Given the description of an element on the screen output the (x, y) to click on. 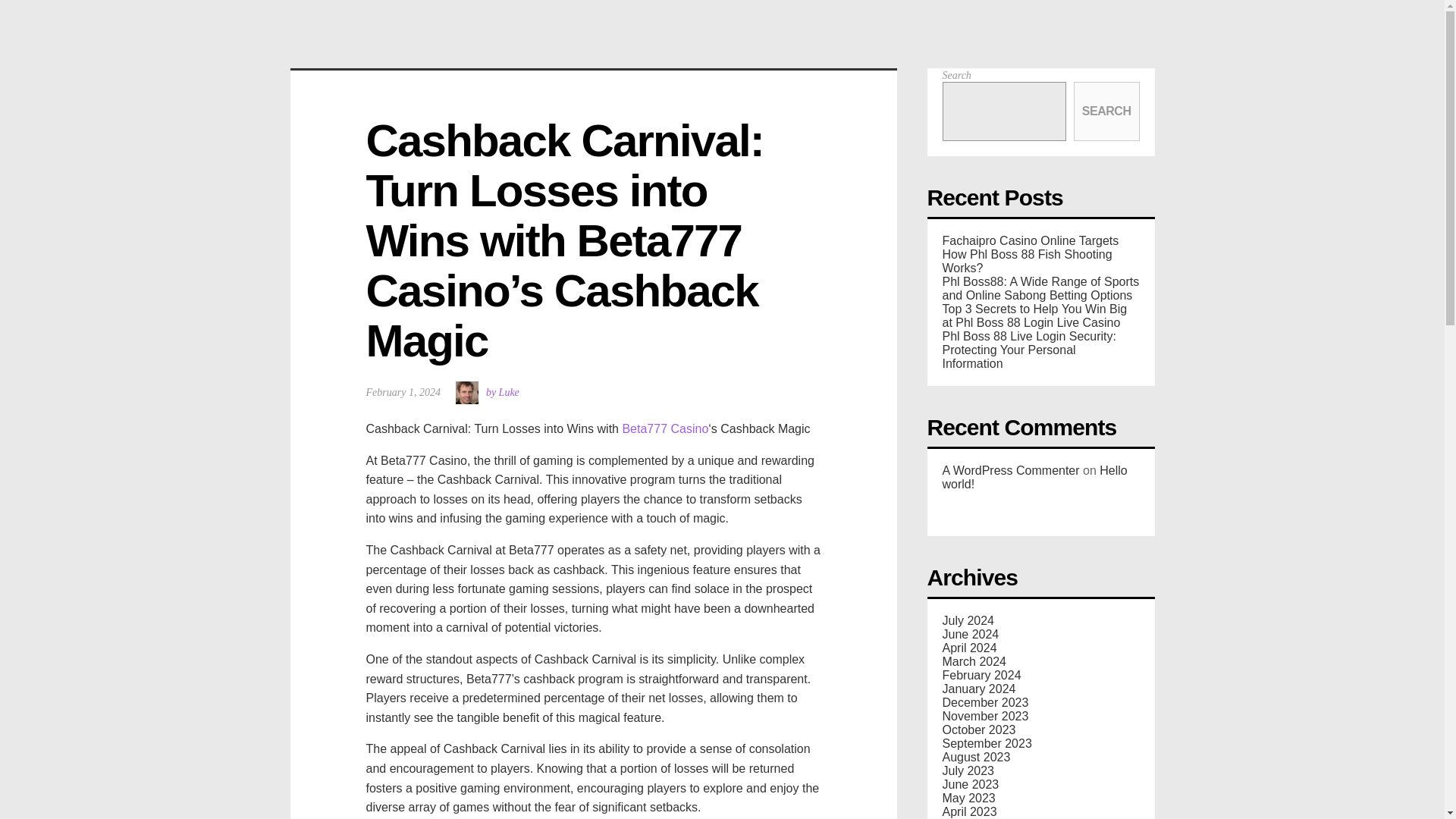
July 2023 (968, 770)
Fachaipro Casino Online Targets (1030, 240)
September 2023 (986, 743)
April 2024 (968, 647)
Beta777 Casino (664, 428)
February 2024 (981, 675)
November 2023 (984, 716)
December 2023 (984, 702)
